Given the description of an element on the screen output the (x, y) to click on. 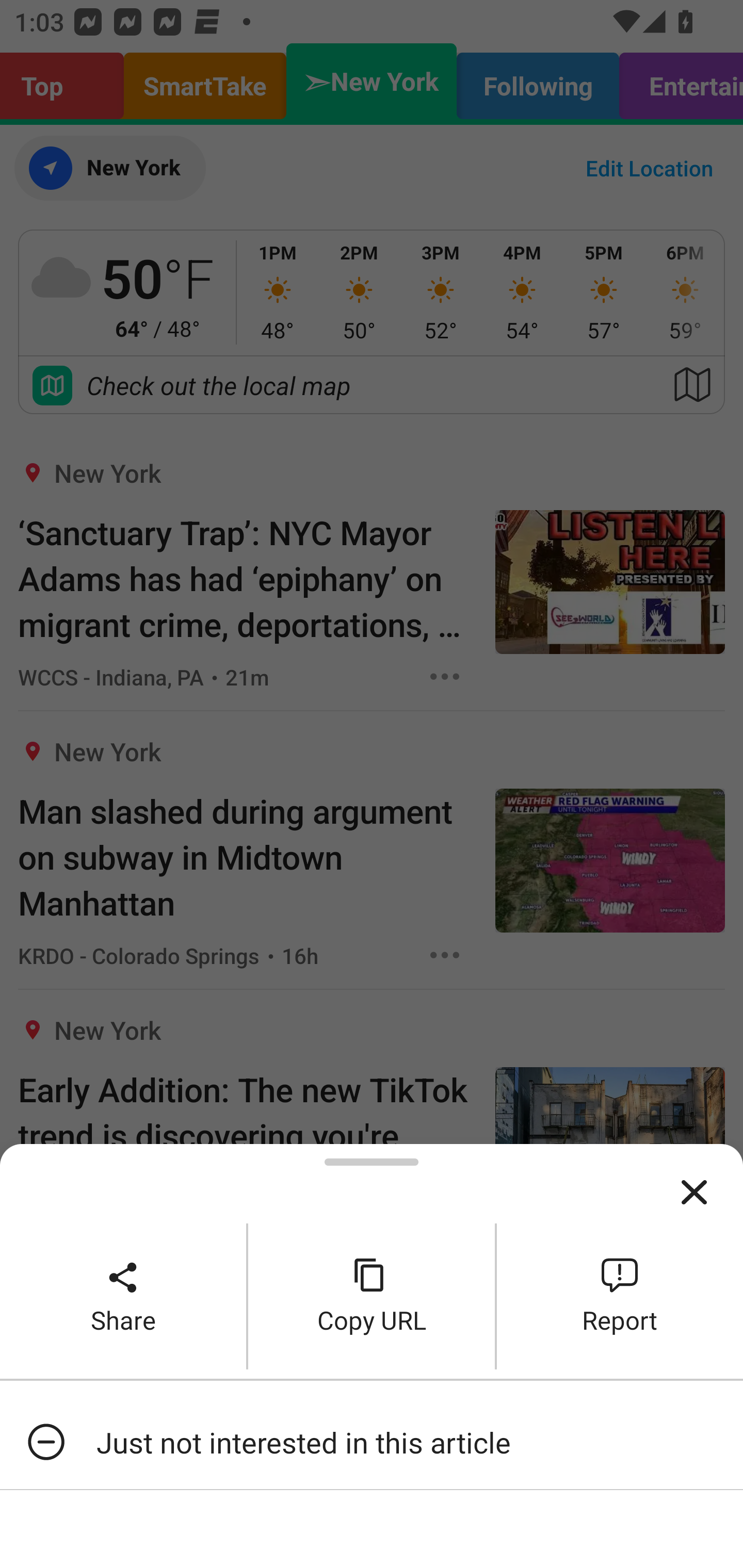
Close (694, 1192)
Share (122, 1295)
Copy URL (371, 1295)
Report (620, 1295)
Just not interested in this article (371, 1442)
